Given the description of an element on the screen output the (x, y) to click on. 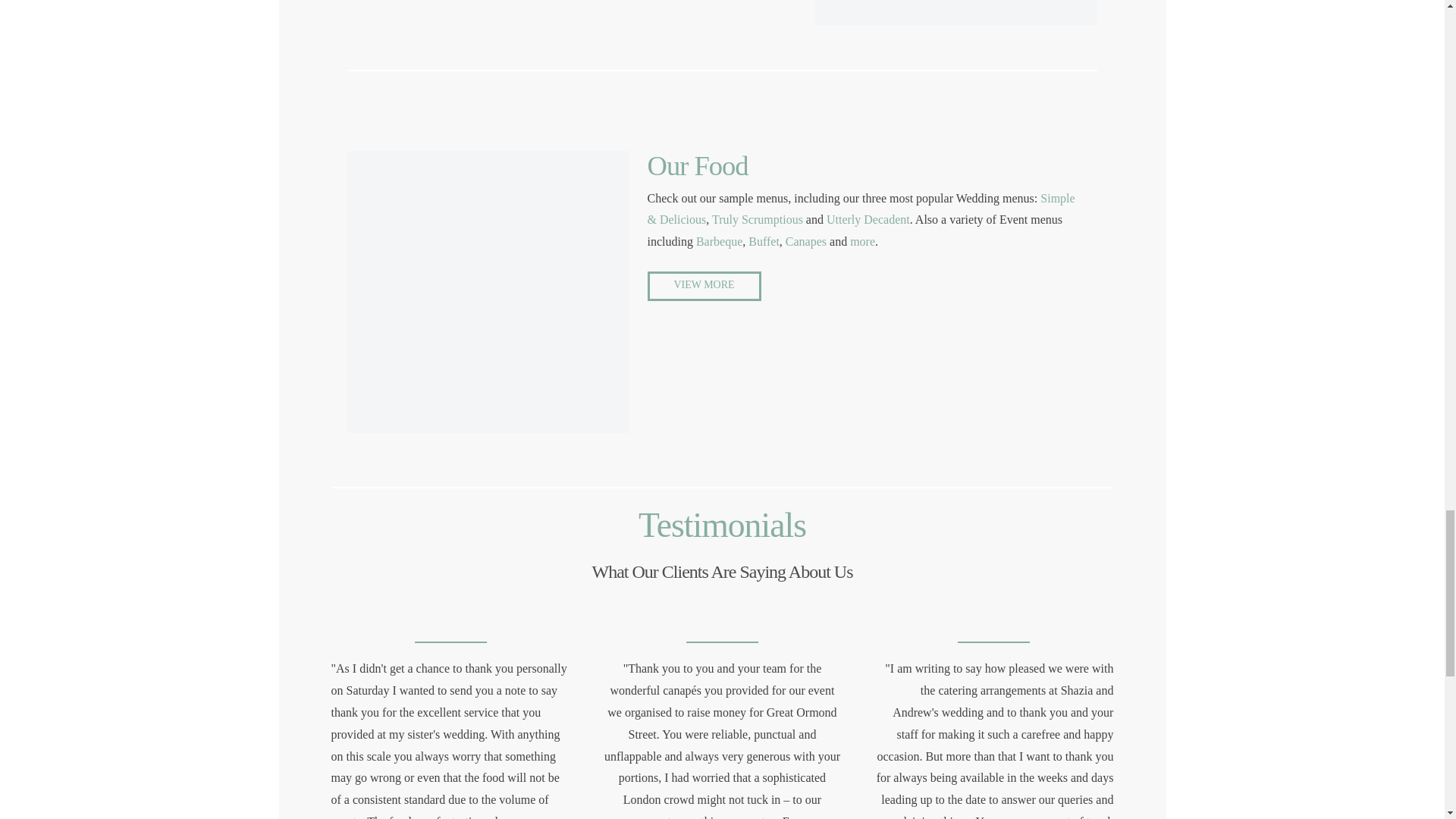
Truly Scrumptious (757, 219)
View our delicious sample menus (704, 286)
Utterly Decadent (868, 219)
Barbeque (717, 241)
Buffet (763, 241)
Canapes (806, 241)
